Given the description of an element on the screen output the (x, y) to click on. 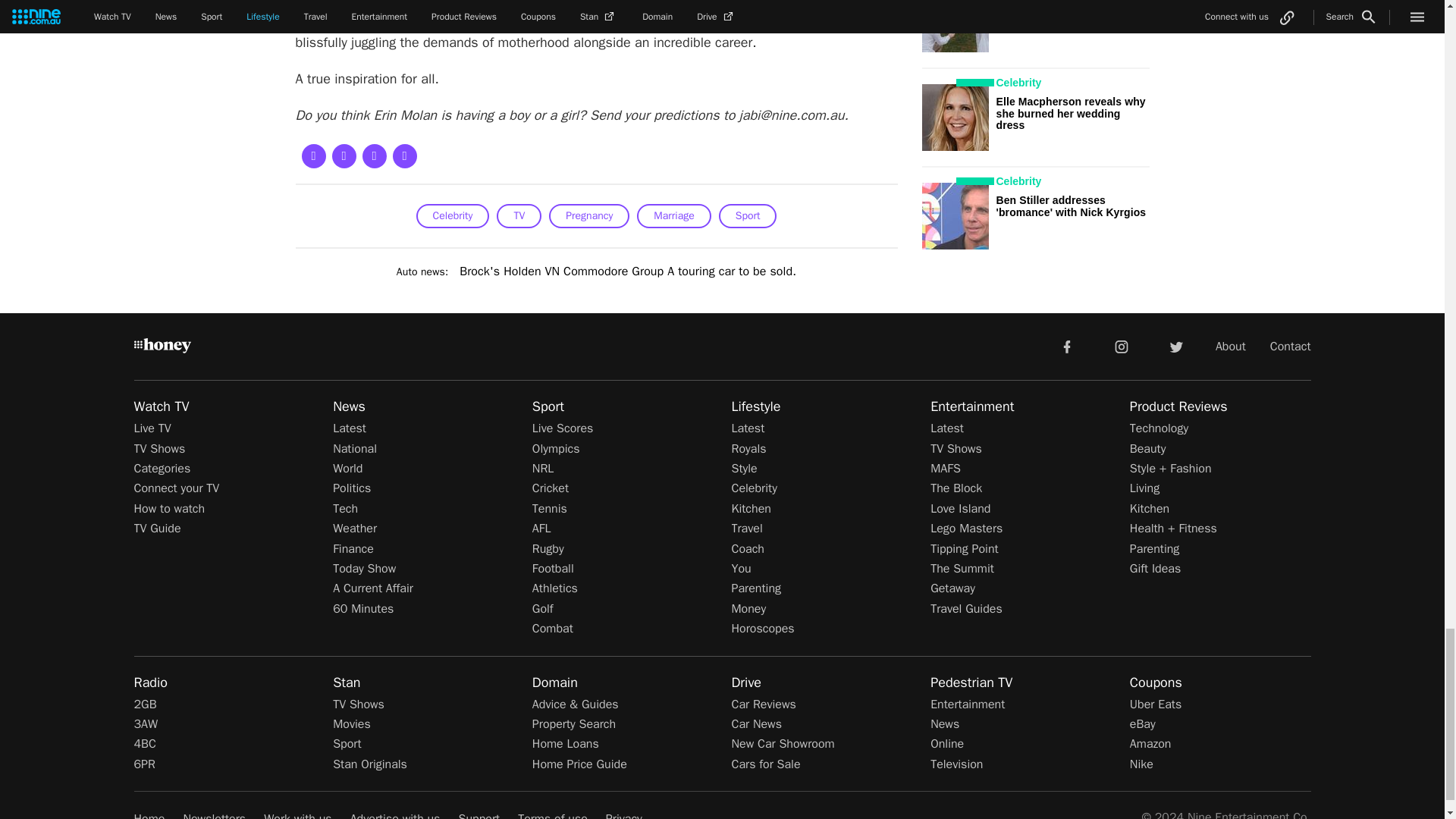
Pregnancy (588, 215)
facebook (1066, 345)
Celebrity (452, 215)
TV (518, 215)
Sport (748, 215)
instagram (1121, 345)
Marriage (673, 215)
twitter (1175, 345)
